Given the description of an element on the screen output the (x, y) to click on. 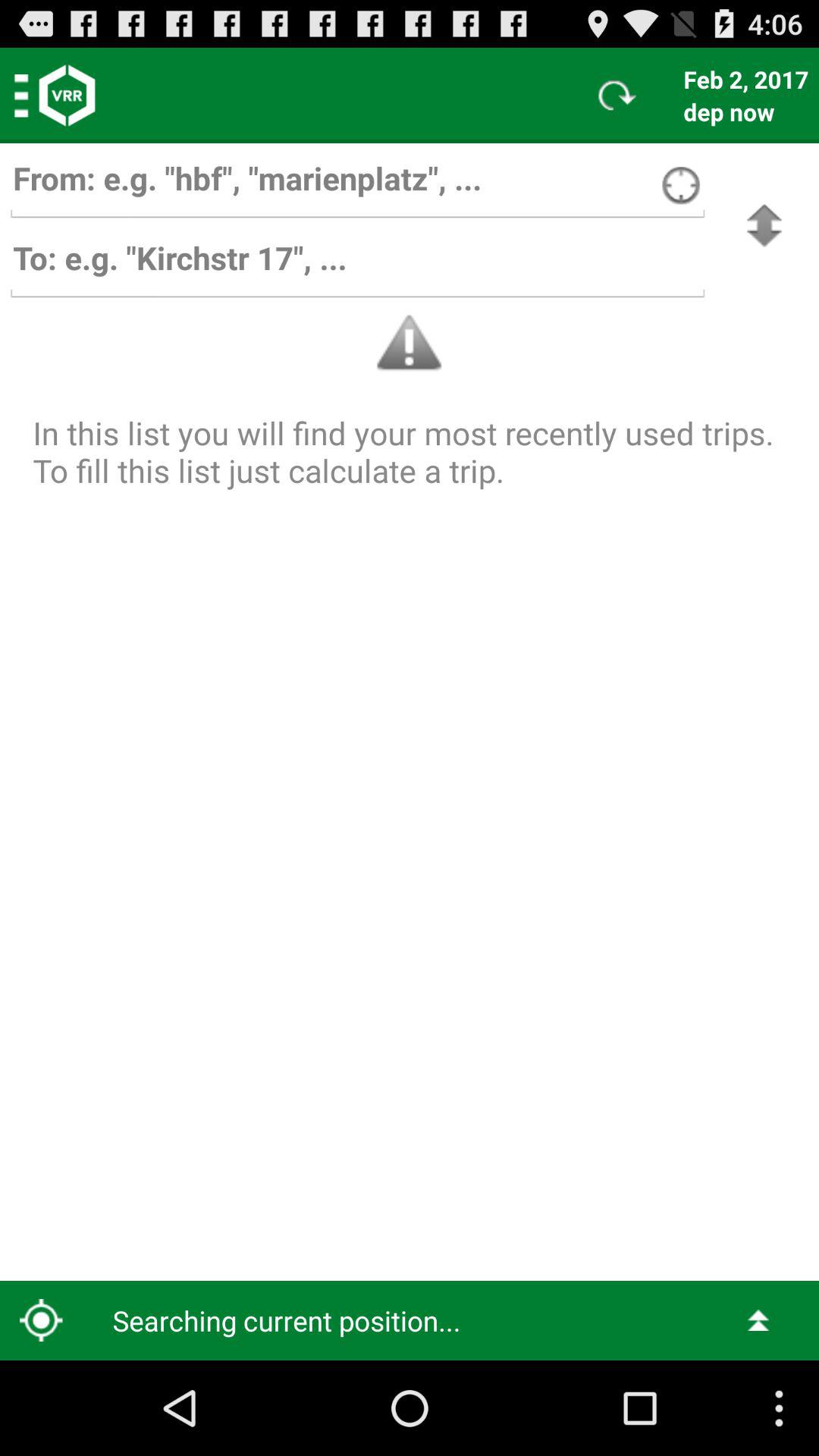
turn off the icon below the dep now icon (764, 225)
